Given the description of an element on the screen output the (x, y) to click on. 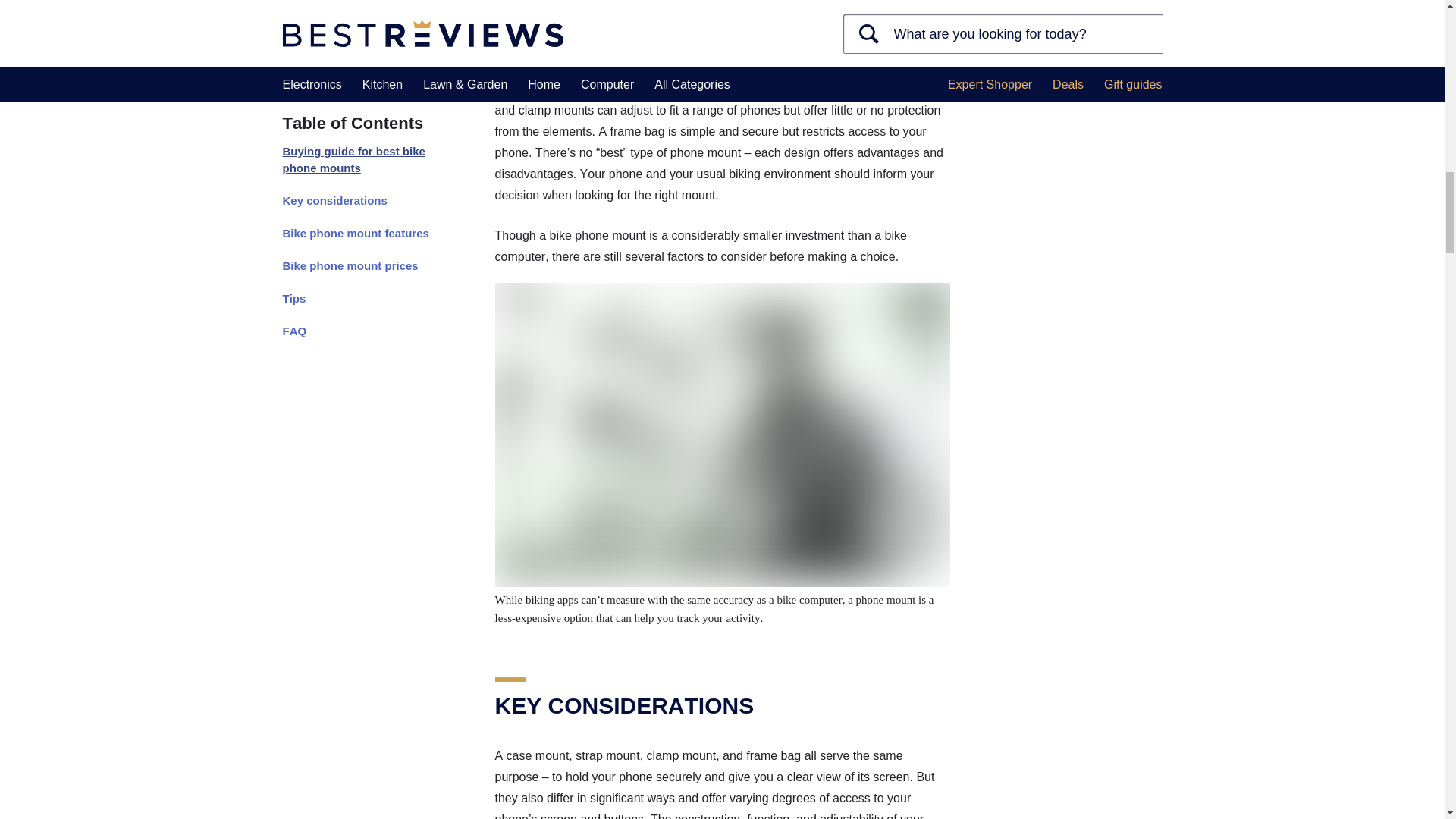
FAQ (361, 64)
Bike phone mount prices (361, 6)
Tips (361, 31)
